Given the description of an element on the screen output the (x, y) to click on. 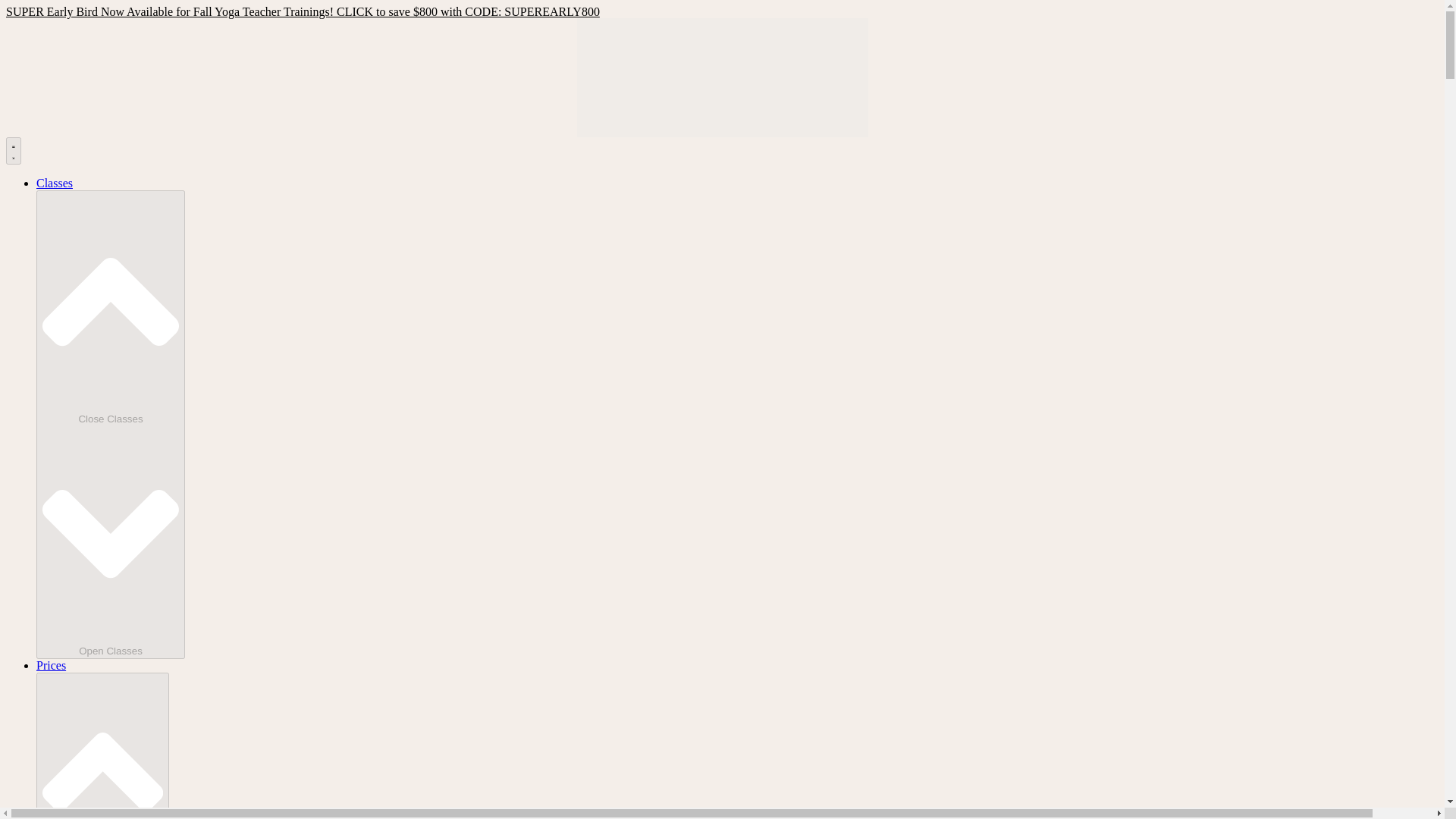
Prices (50, 665)
Close Prices Open Prices (102, 745)
Close Classes Open Classes (110, 424)
Classes (54, 182)
